Given the description of an element on the screen output the (x, y) to click on. 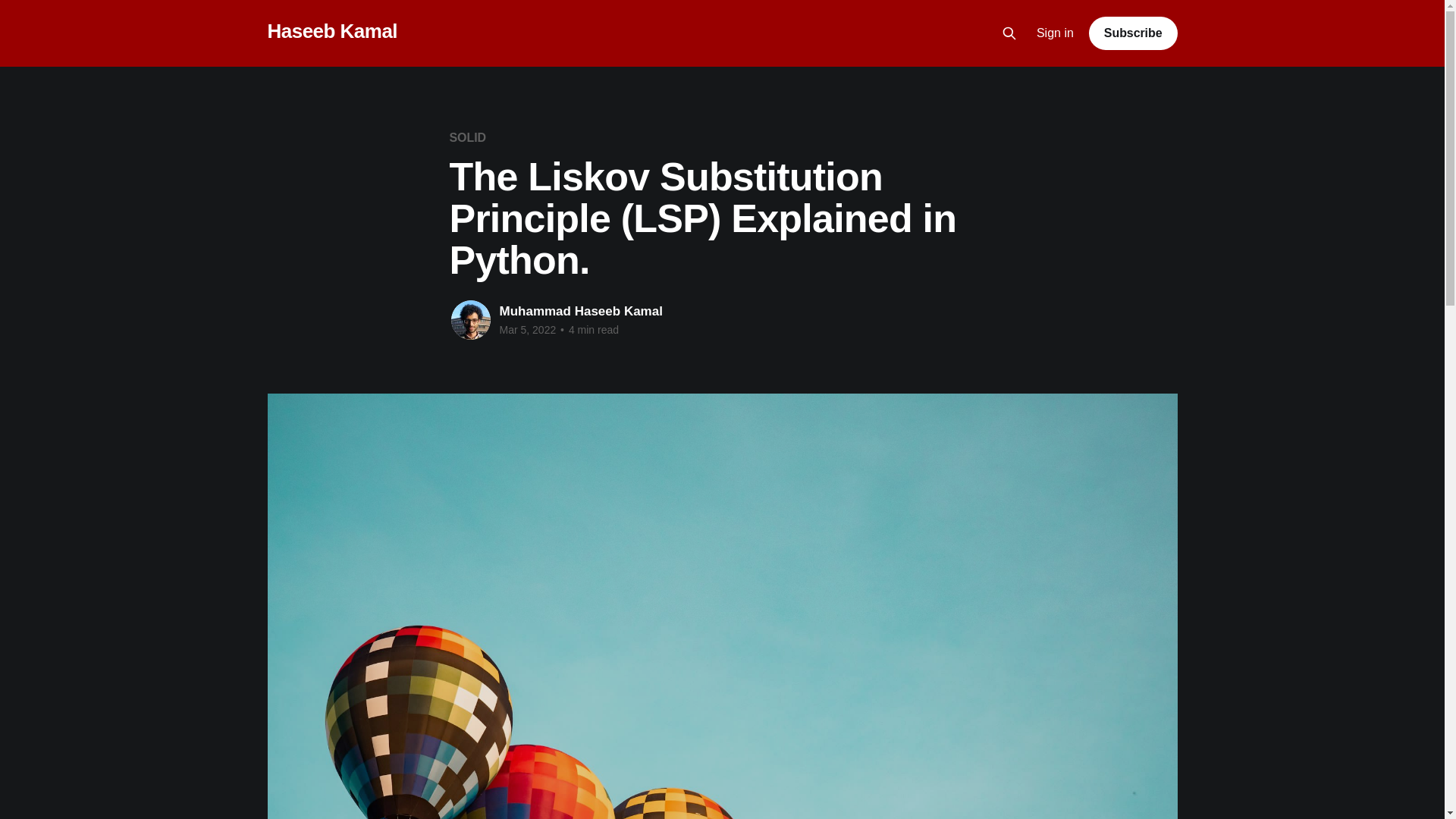
Muhammad Haseeb Kamal (580, 310)
Subscribe (1133, 32)
SOLID (467, 137)
Haseeb Kamal (331, 31)
Sign in (1055, 33)
